Given the description of an element on the screen output the (x, y) to click on. 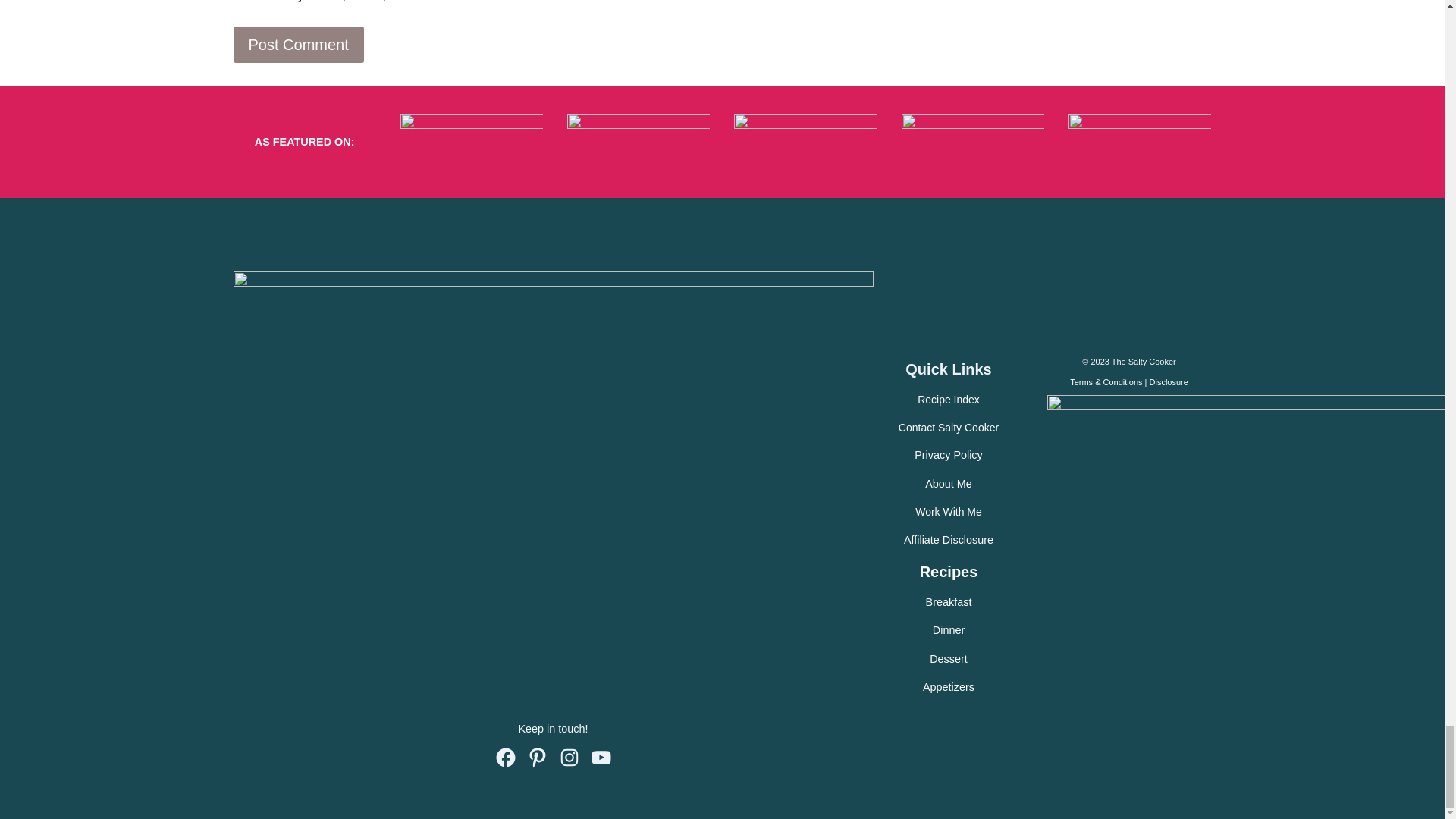
Facebook (505, 757)
Post Comment (298, 44)
Post Comment (298, 44)
